Given the description of an element on the screen output the (x, y) to click on. 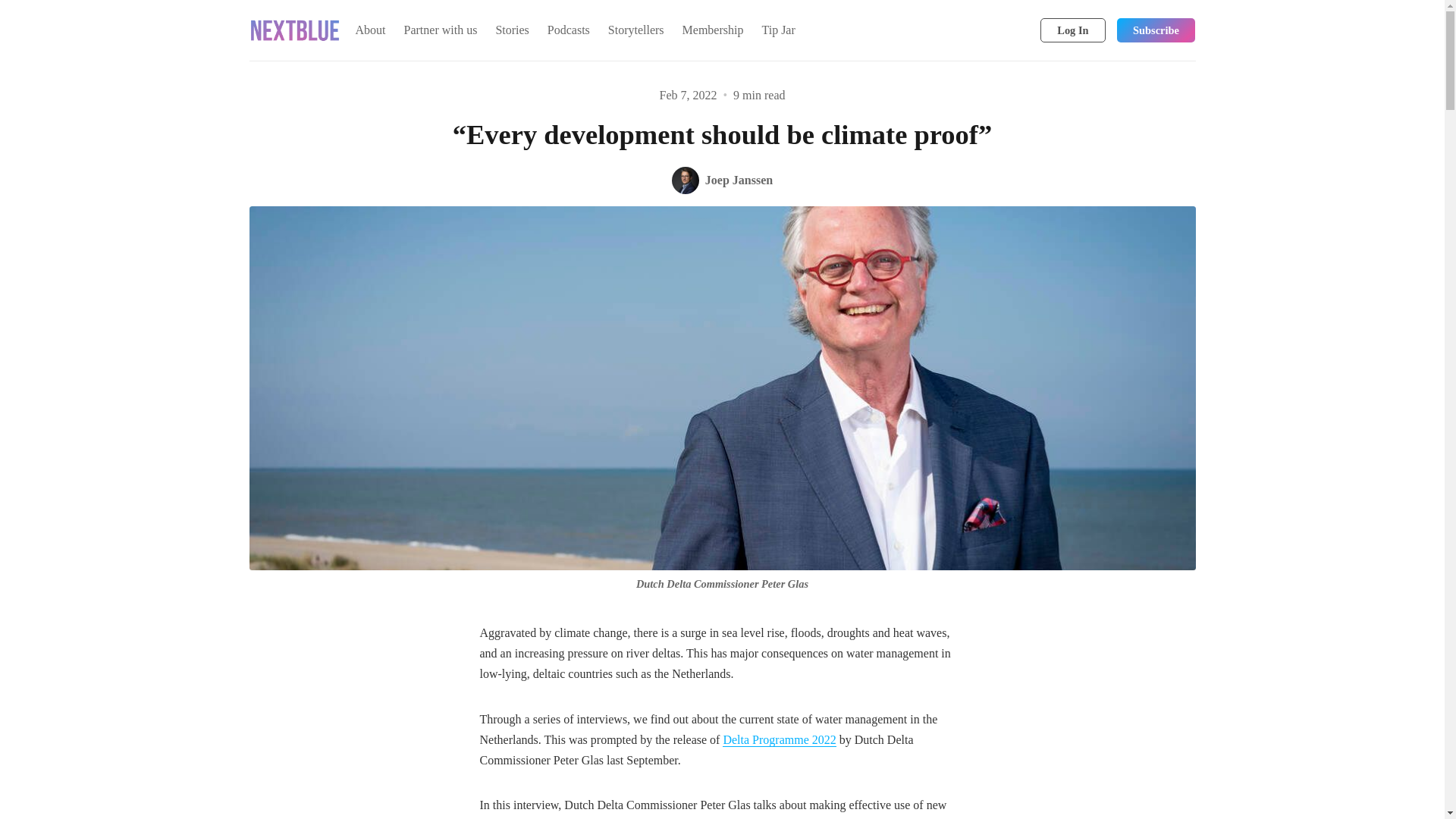
Storytellers (635, 29)
More (816, 30)
Partner with us (440, 29)
Subscribe (1155, 30)
Theme Toggle (998, 30)
Stories (511, 29)
Podcasts (568, 29)
Tip Jar (777, 29)
About (370, 29)
Membership (712, 29)
Search (1022, 30)
Log In (1073, 30)
